Given the description of an element on the screen output the (x, y) to click on. 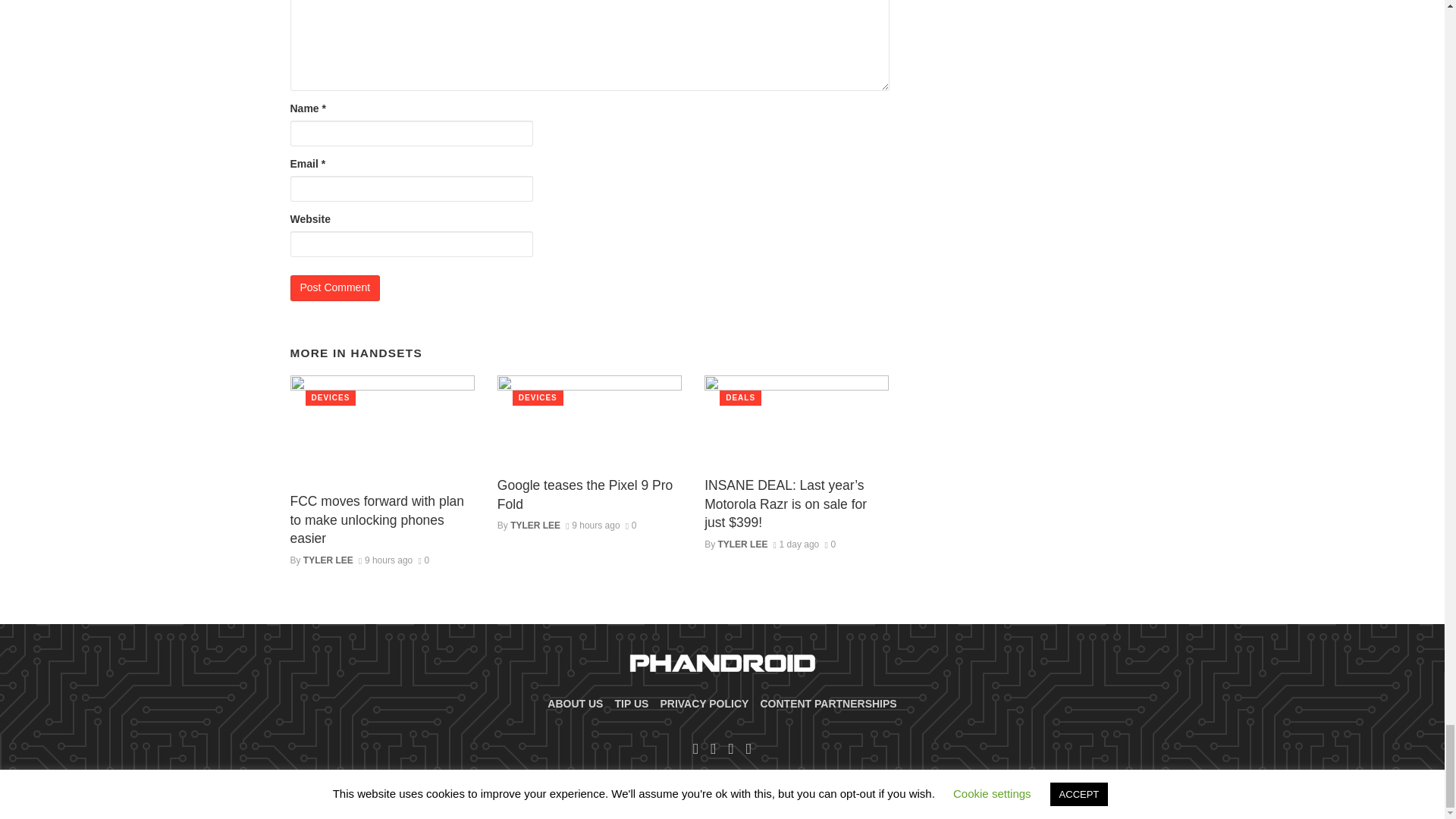
Post Comment (334, 288)
